Given the description of an element on the screen output the (x, y) to click on. 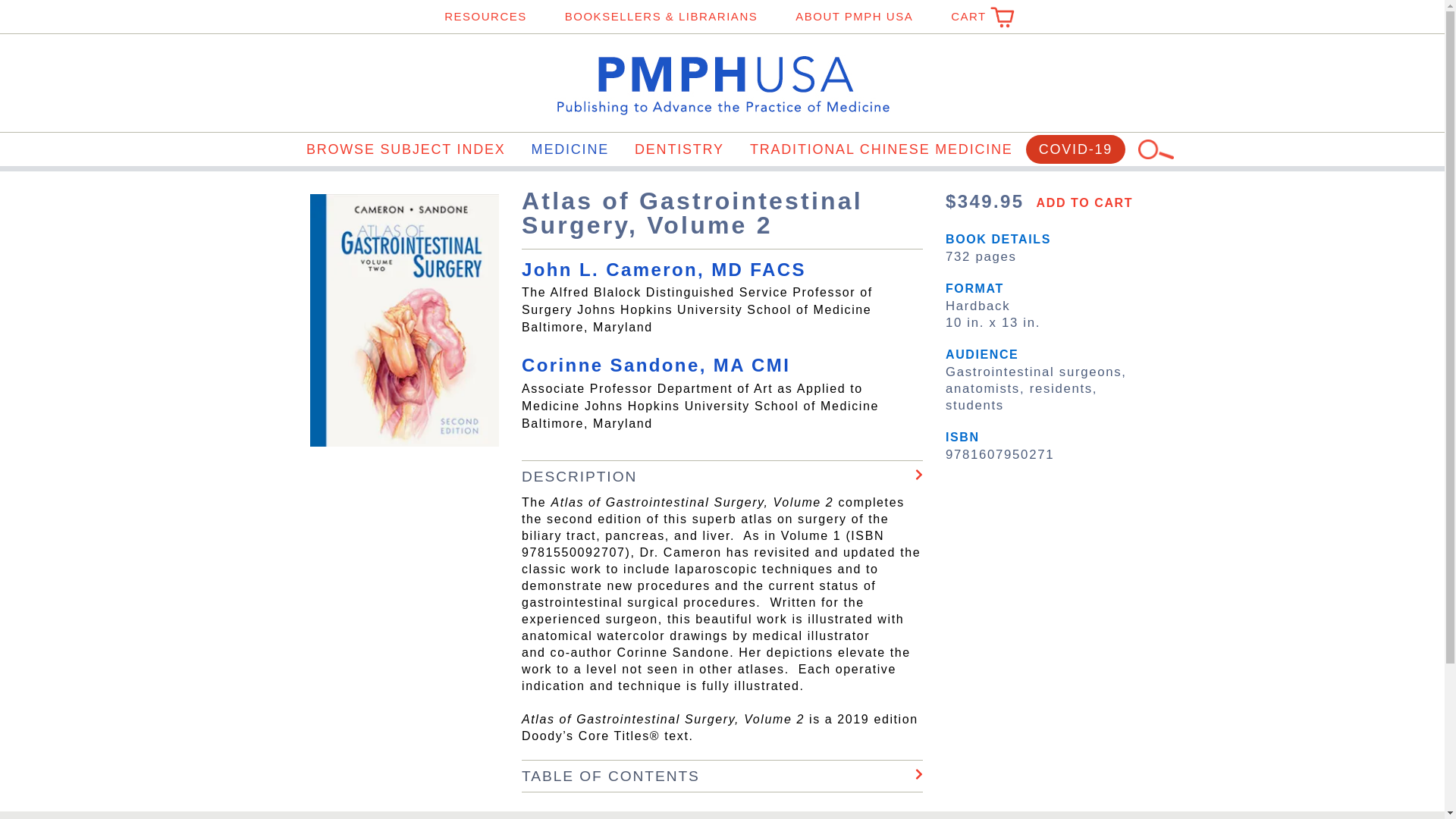
DESCRIPTION (722, 476)
MEDICINE (569, 148)
TRADITIONAL CHINESE MEDICINE (881, 148)
Cart (975, 16)
MEDICINE (569, 148)
COVID-19 (1075, 149)
RESOURCES (485, 16)
COVID-19 (1075, 149)
DENTISTRY (678, 148)
About PMPH USA (853, 16)
DENTISTRY (678, 148)
ADD TO CART (1081, 204)
CART (975, 16)
Resources (485, 16)
TABLE OF CONTENTS (722, 775)
